Given the description of an element on the screen output the (x, y) to click on. 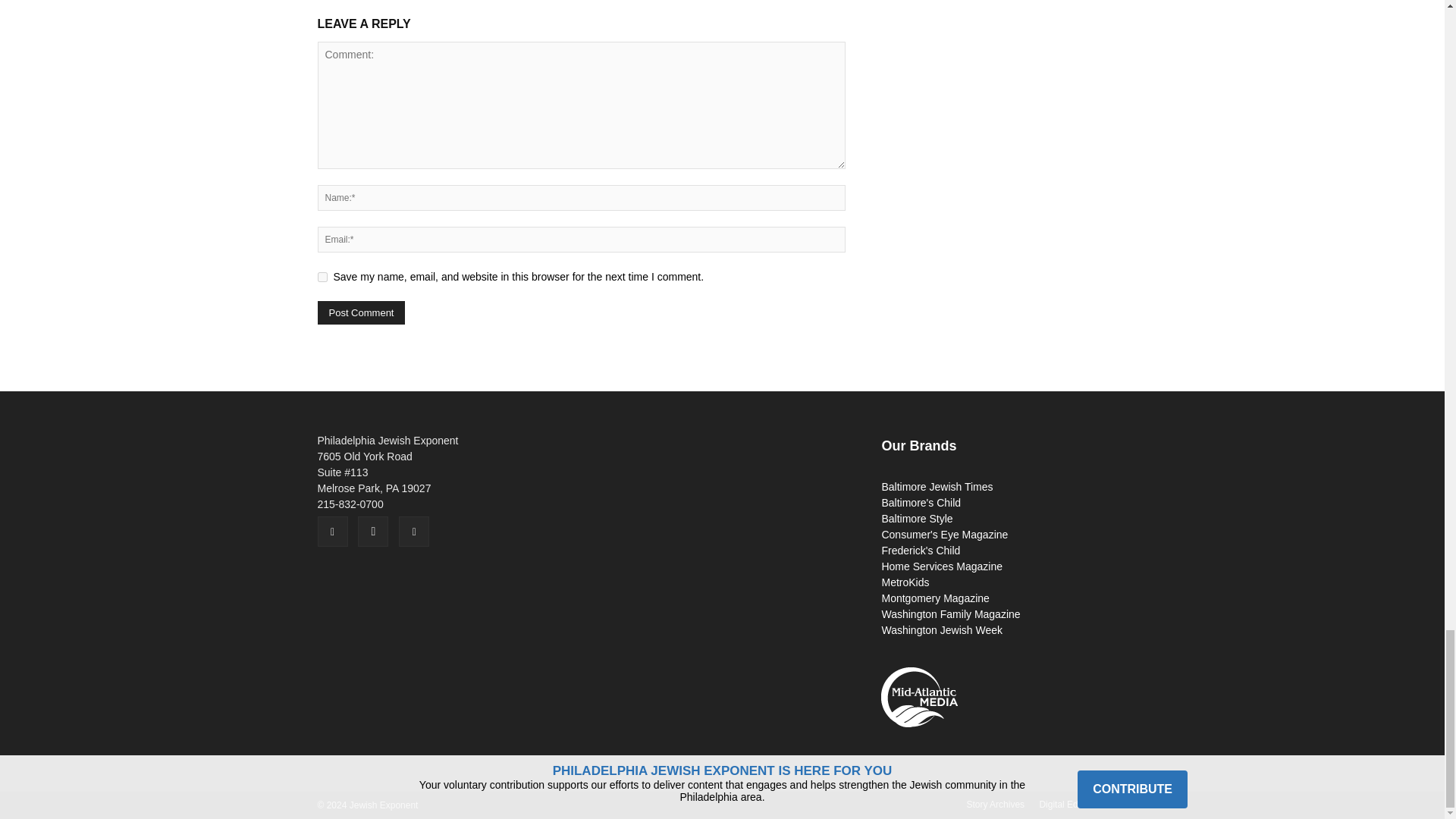
yes (321, 276)
Post Comment (360, 312)
